Given the description of an element on the screen output the (x, y) to click on. 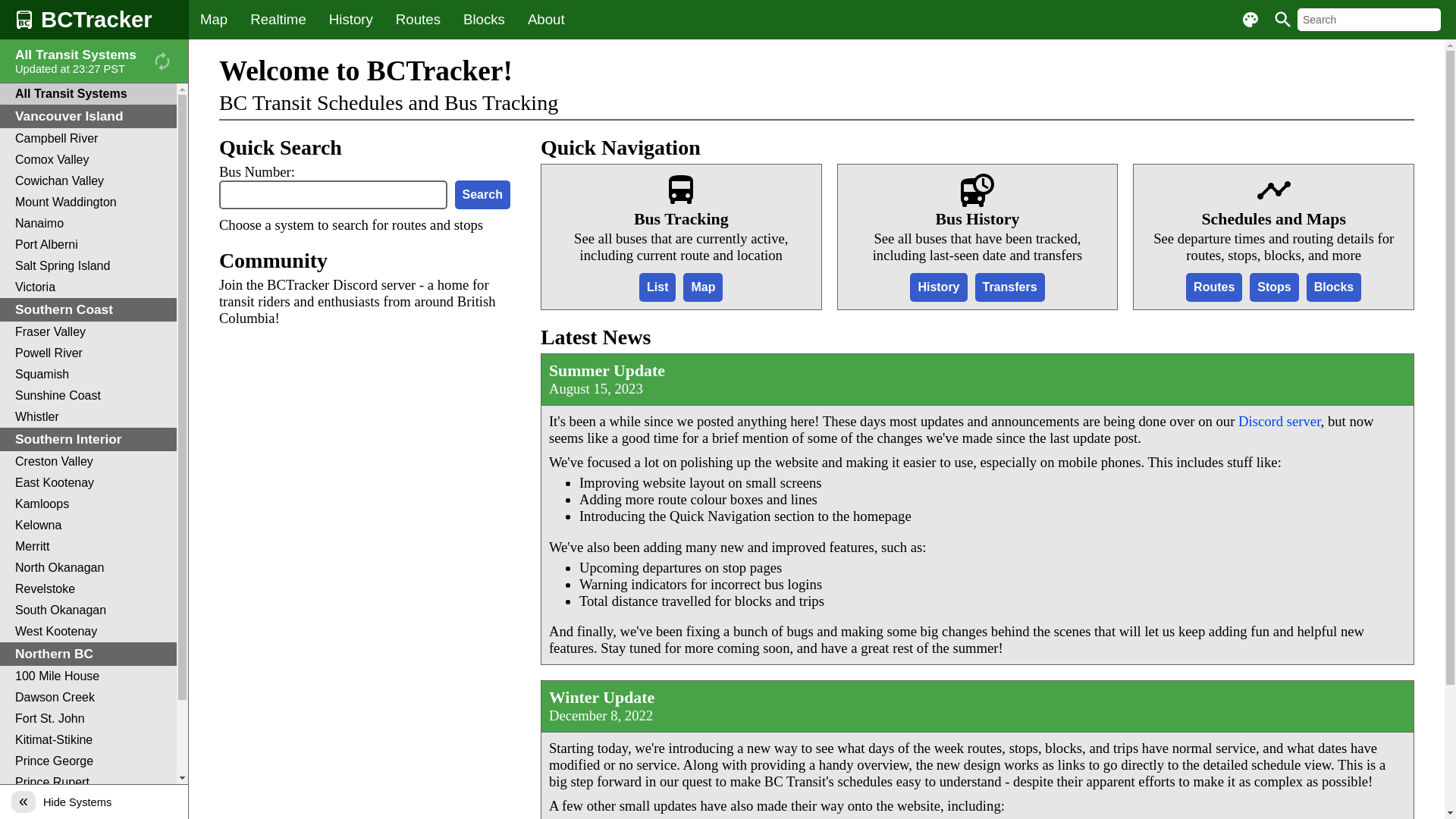
Map Element type: text (213, 19)
Prince George Element type: text (88, 760)
Squamish Element type: text (88, 374)
Revelstoke Element type: text (88, 588)
Port Alberni Element type: text (88, 244)
Prince Rupert Element type: text (88, 782)
History Element type: text (938, 287)
Comox Valley Element type: text (88, 159)
Stops Element type: text (1273, 287)
Dawson Creek Element type: text (88, 697)
Mount Waddington Element type: text (88, 202)
Kamloops Element type: text (88, 503)
Quesnel Element type: text (88, 803)
West Kootenay Element type: text (88, 631)
Salt Spring Island Element type: text (88, 265)
Fort St. John Element type: text (88, 718)
Transfers Element type: text (1009, 287)
BCTracker Element type: text (94, 19)
South Okanagan Element type: text (88, 610)
North Okanagan Element type: text (88, 567)
East Kootenay Element type: text (88, 482)
Cowichan Valley Element type: text (88, 180)
Victoria Element type: text (88, 287)
Kelowna Element type: text (88, 525)
Search Element type: text (482, 194)
Whistler Element type: text (88, 416)
Powell River Element type: text (88, 353)
Realtime Element type: text (277, 19)
About Element type: text (546, 19)
Fraser Valley Element type: text (88, 331)
Kitimat-Stikine Element type: text (88, 739)
100 Mile House Element type: text (88, 676)
Blocks Element type: text (483, 19)
Map Element type: text (702, 287)
Sunshine Coast Element type: text (88, 395)
Merritt Element type: text (88, 546)
Routes Element type: text (1214, 287)
History Element type: text (350, 19)
Discord server Element type: text (1279, 421)
Blocks Element type: text (1333, 287)
Routes Element type: text (417, 19)
List Element type: text (657, 287)
Campbell River Element type: text (88, 138)
Nanaimo Element type: text (88, 223)
Creston Valley Element type: text (88, 461)
